Given the description of an element on the screen output the (x, y) to click on. 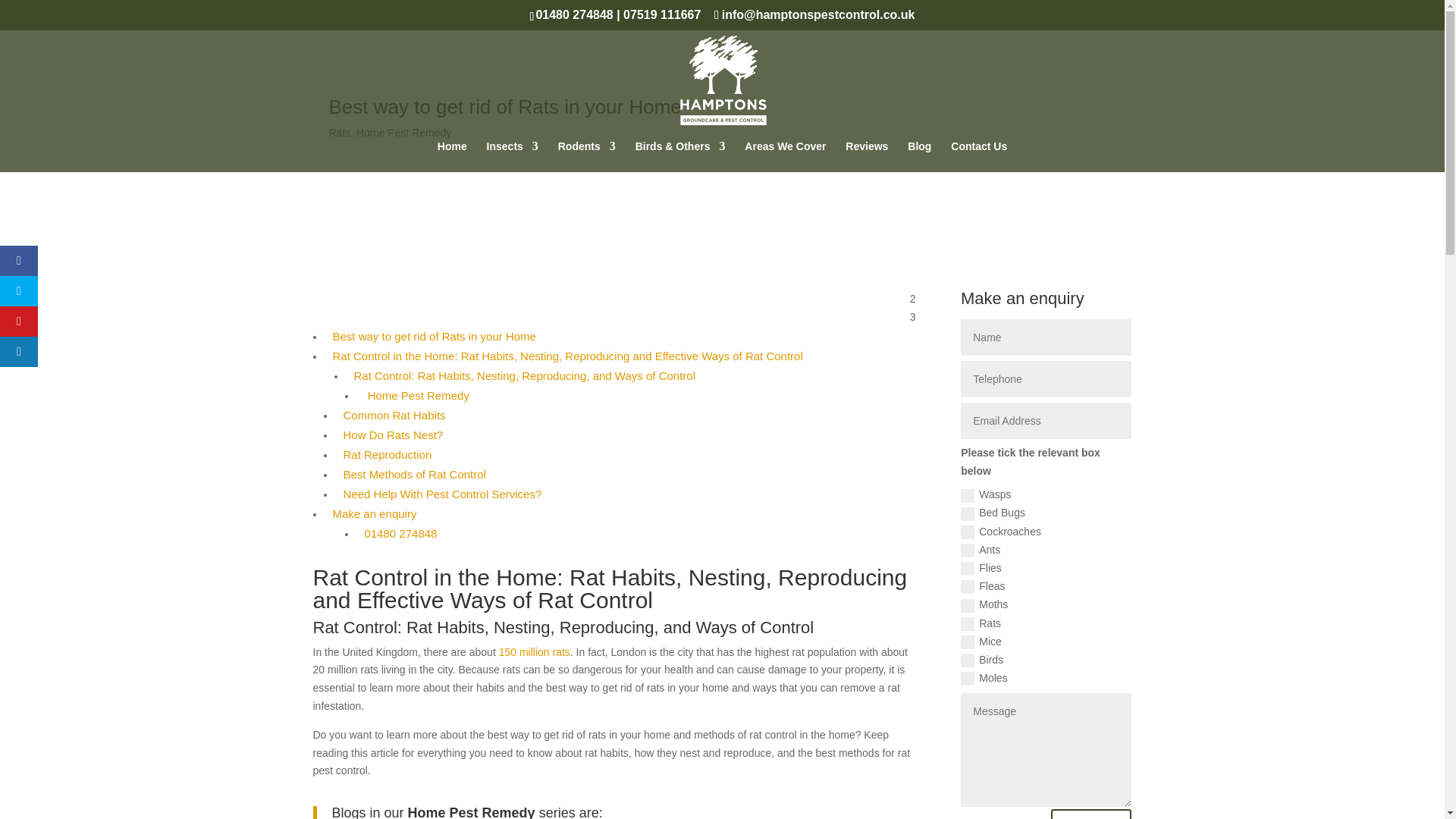
Best Methods of Rat Control (413, 474)
01480 274848 (400, 534)
Rodents (586, 155)
Make an enquiry (373, 513)
Best way to get rid of Rats in your Home (433, 336)
150 million rats (534, 652)
Contact Us (978, 155)
 Home Pest Remedy (416, 396)
